Given the description of an element on the screen output the (x, y) to click on. 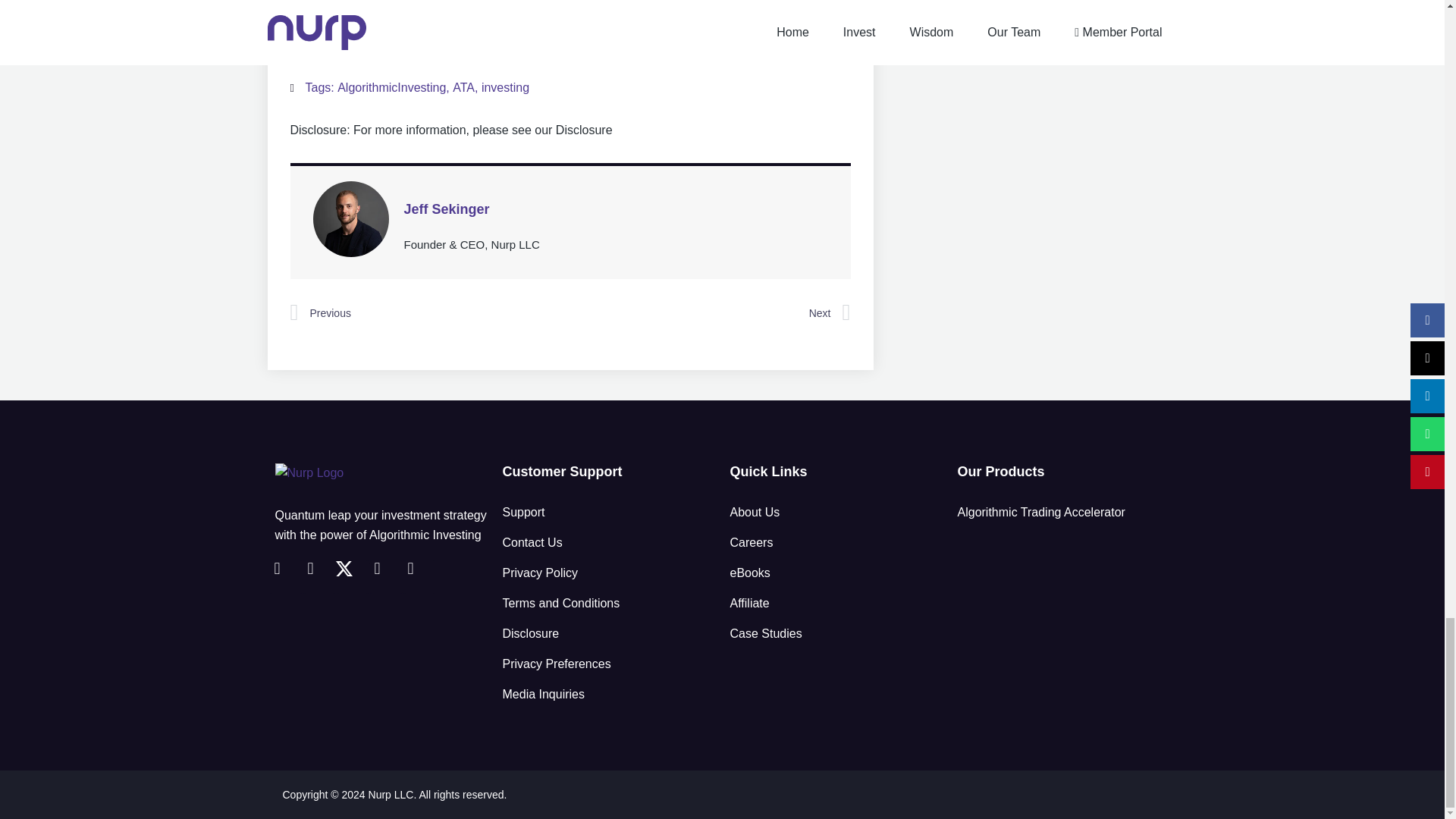
Jeff Sekinger (615, 208)
AlgorithmicInvesting (391, 87)
Previous (429, 313)
Next (710, 313)
ATA (463, 87)
investing (505, 87)
